Given the description of an element on the screen output the (x, y) to click on. 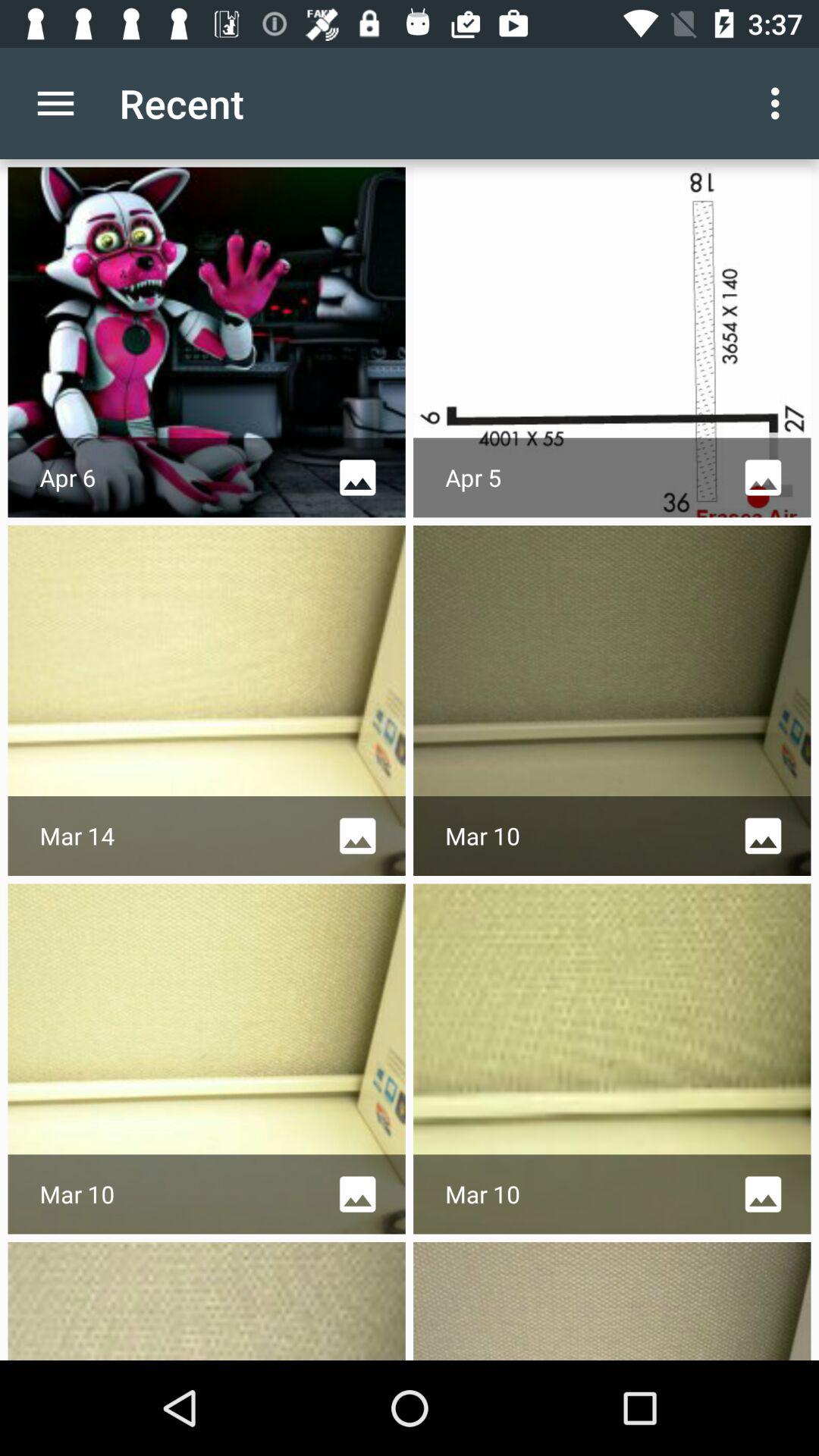
choose item to the right of recent (779, 103)
